Given the description of an element on the screen output the (x, y) to click on. 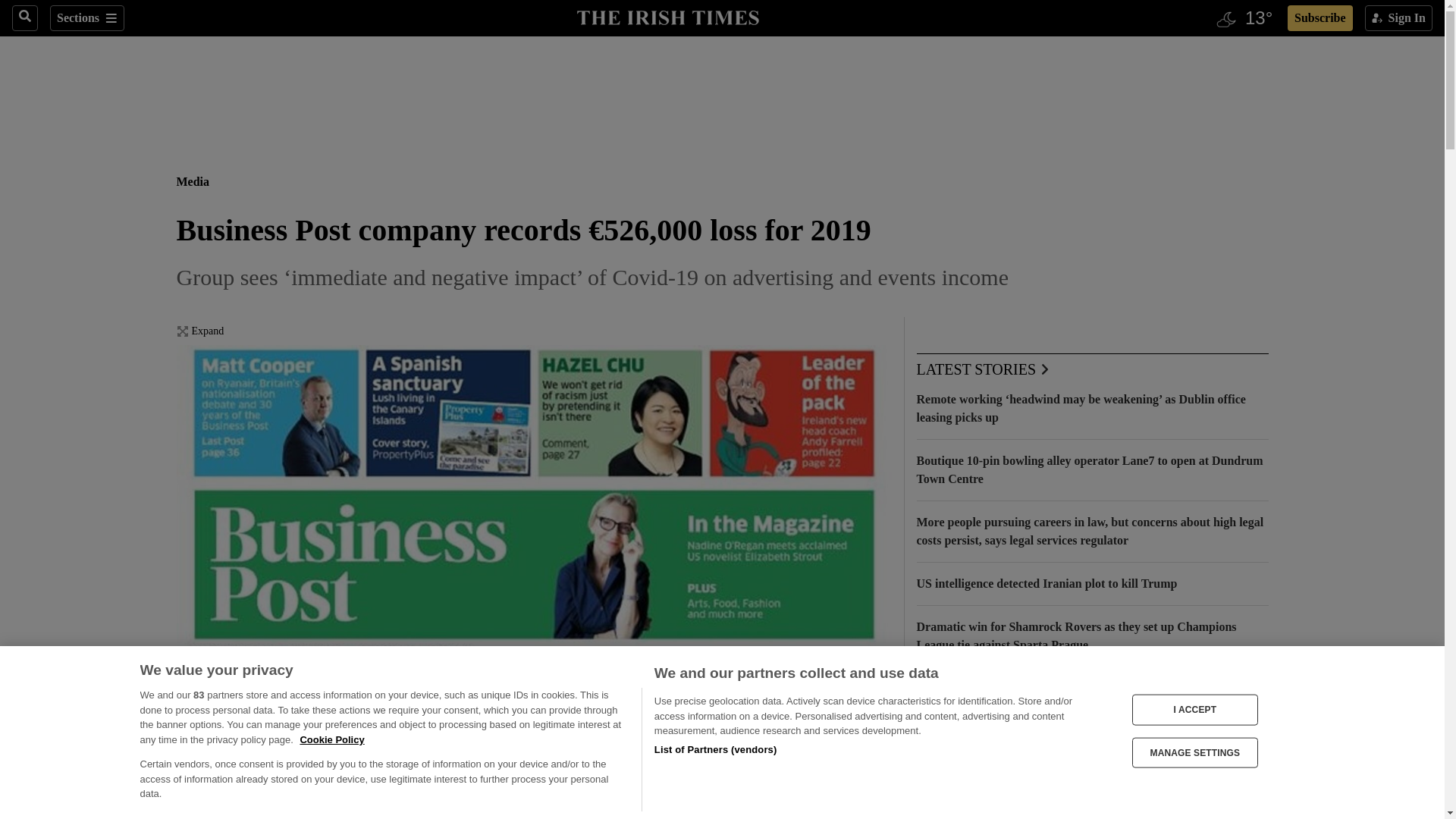
The Irish Times (667, 16)
Sections (86, 17)
Sign In (1398, 17)
Subscribe (1319, 17)
